Given the description of an element on the screen output the (x, y) to click on. 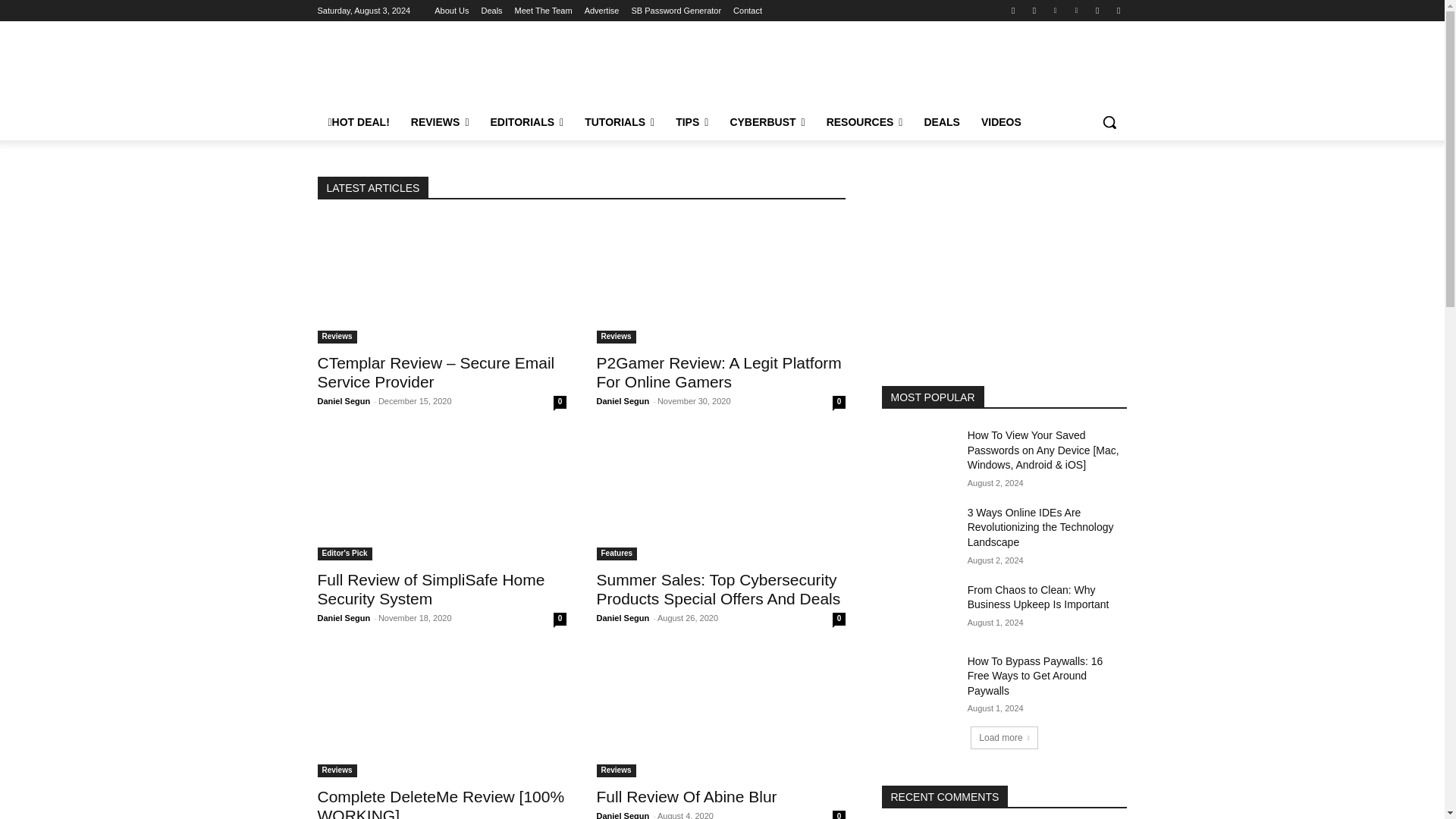
EDITORIALS (527, 122)
Linkedin (1055, 9)
Meet The Team (543, 10)
Youtube (1117, 9)
Contact (747, 10)
Facebook (1013, 9)
Instagram (1034, 9)
Pinterest (1075, 9)
Advertise (602, 10)
Twitter (1097, 9)
SB Password Generator (675, 10)
About Us (450, 10)
REVIEWS (440, 122)
SecureBlitz Cybersecurity blog logo (438, 62)
Deals (491, 10)
